Given the description of an element on the screen output the (x, y) to click on. 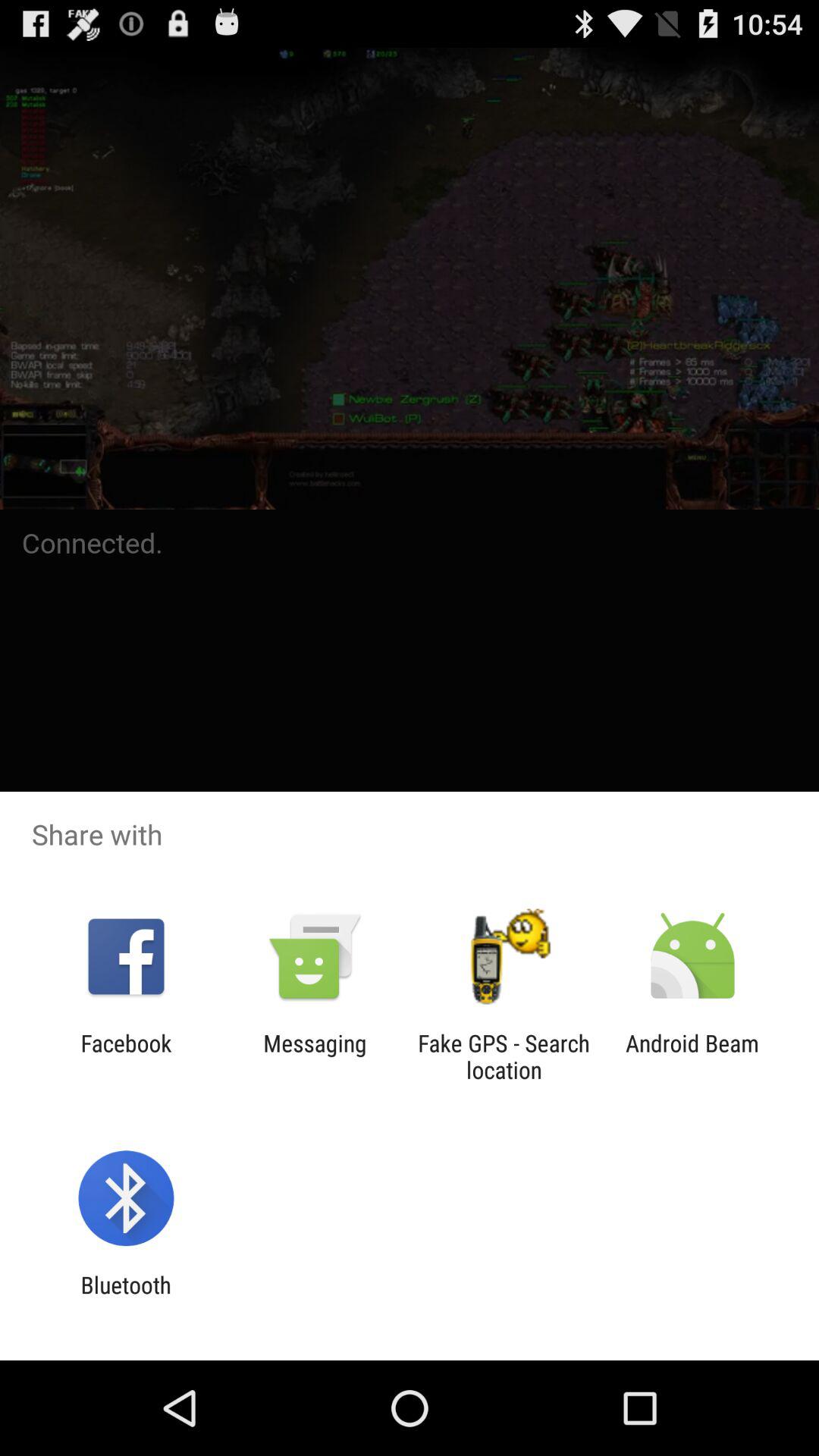
choose the messaging item (314, 1056)
